Given the description of an element on the screen output the (x, y) to click on. 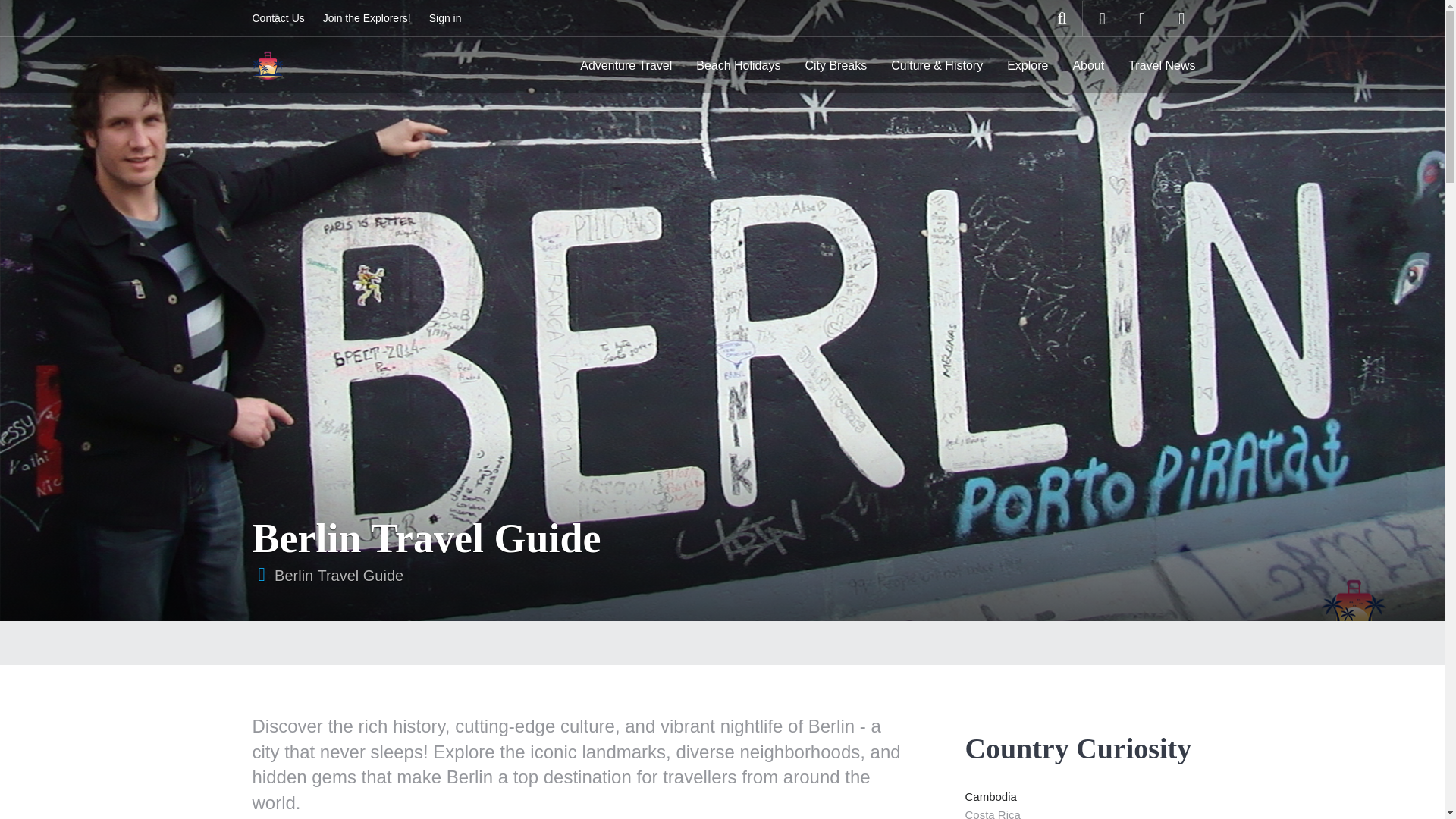
Beach Holidays (738, 64)
Join the Explorers! (367, 18)
Join the Explorers! (367, 18)
Contact Us (278, 18)
Sign in (445, 18)
Sign in (445, 18)
Contact Us (278, 18)
City Breaks (835, 64)
Travel News (1161, 64)
Explore (1026, 64)
